Given the description of an element on the screen output the (x, y) to click on. 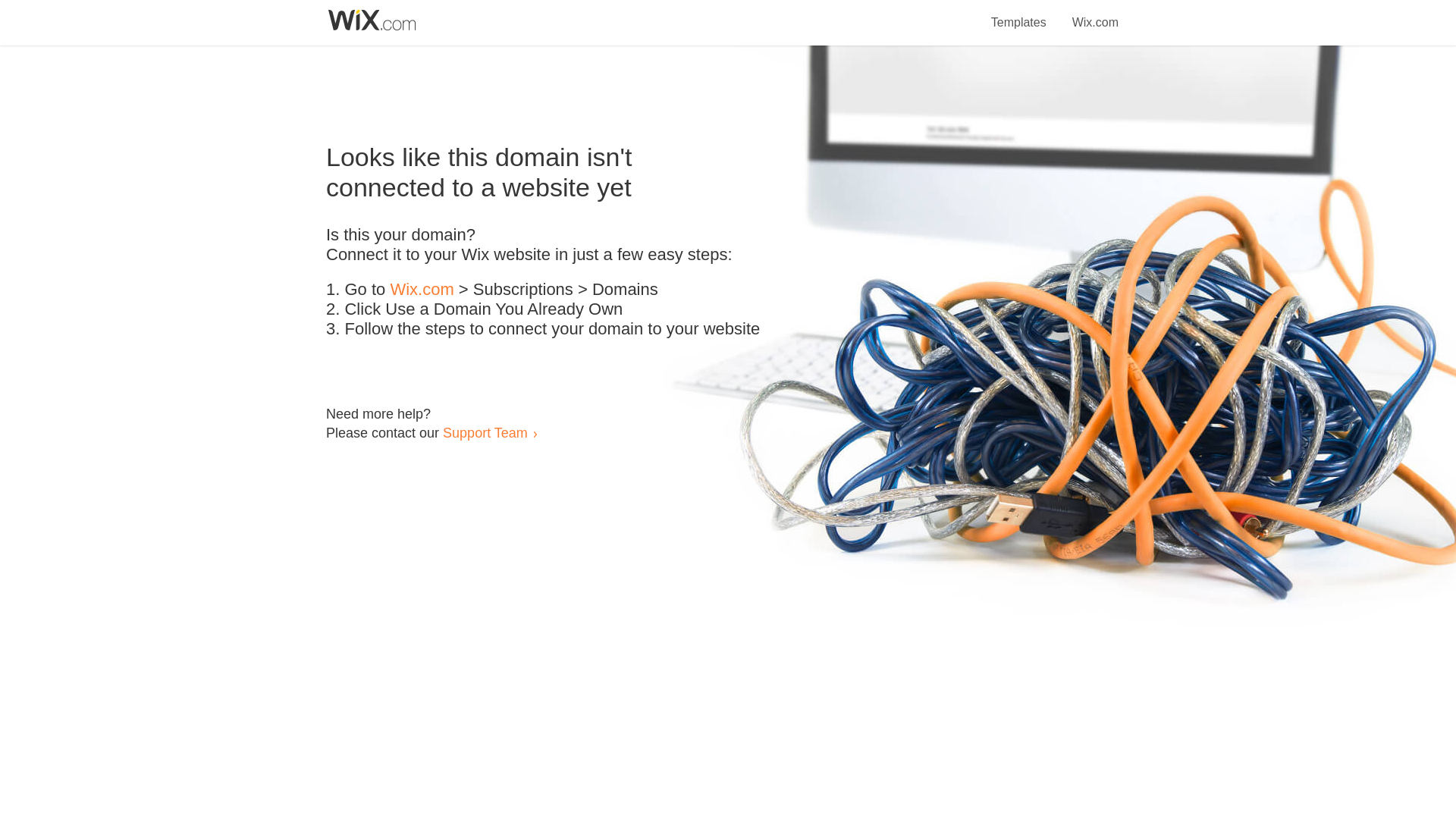
Support Team (484, 432)
Wix.com (1095, 14)
Templates (1018, 14)
Wix.com (421, 289)
